Given the description of an element on the screen output the (x, y) to click on. 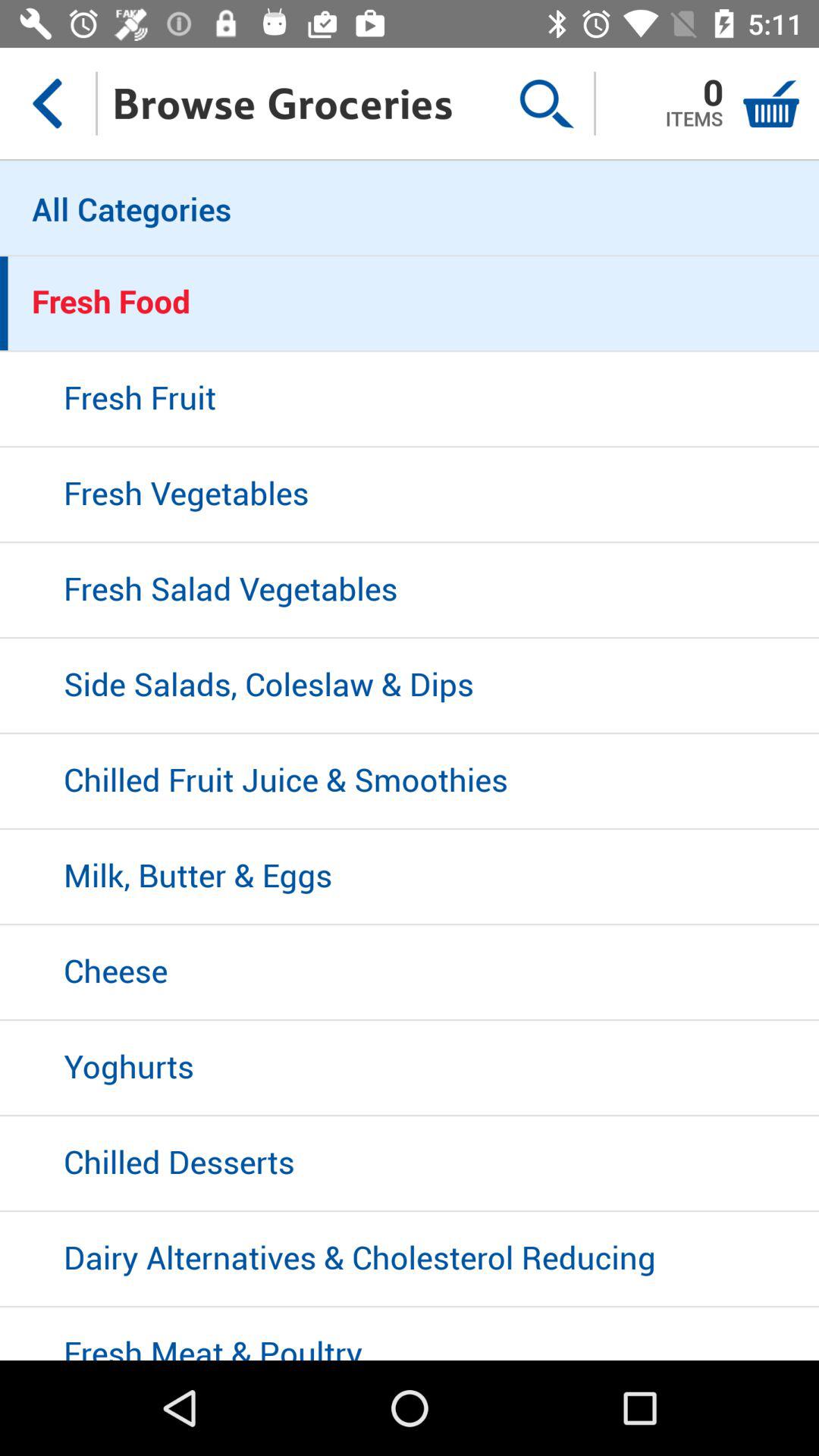
press item below side salads coleslaw item (409, 781)
